Given the description of an element on the screen output the (x, y) to click on. 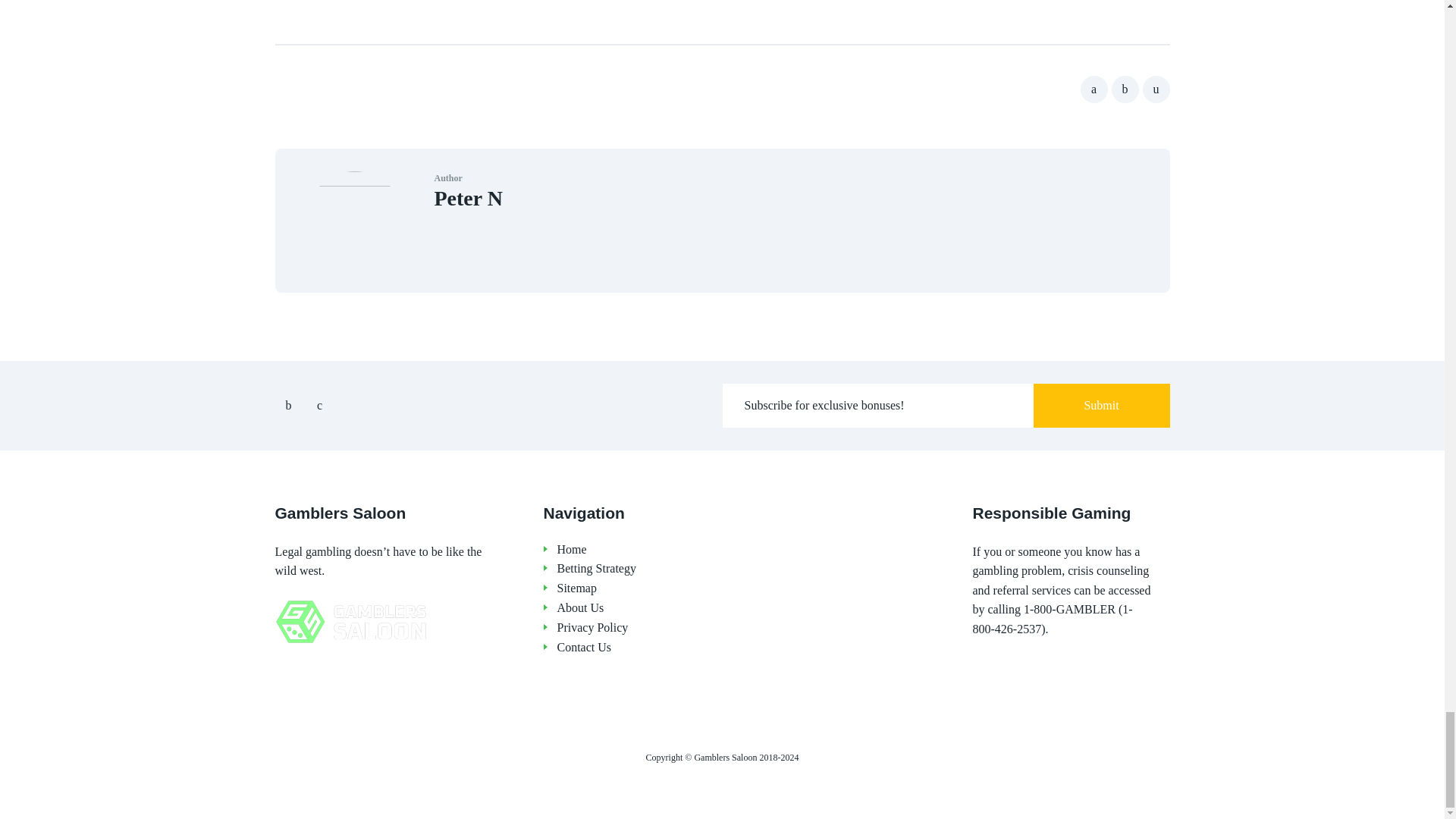
Share on Facebook (1093, 89)
Submit (1100, 406)
